Given the description of an element on the screen output the (x, y) to click on. 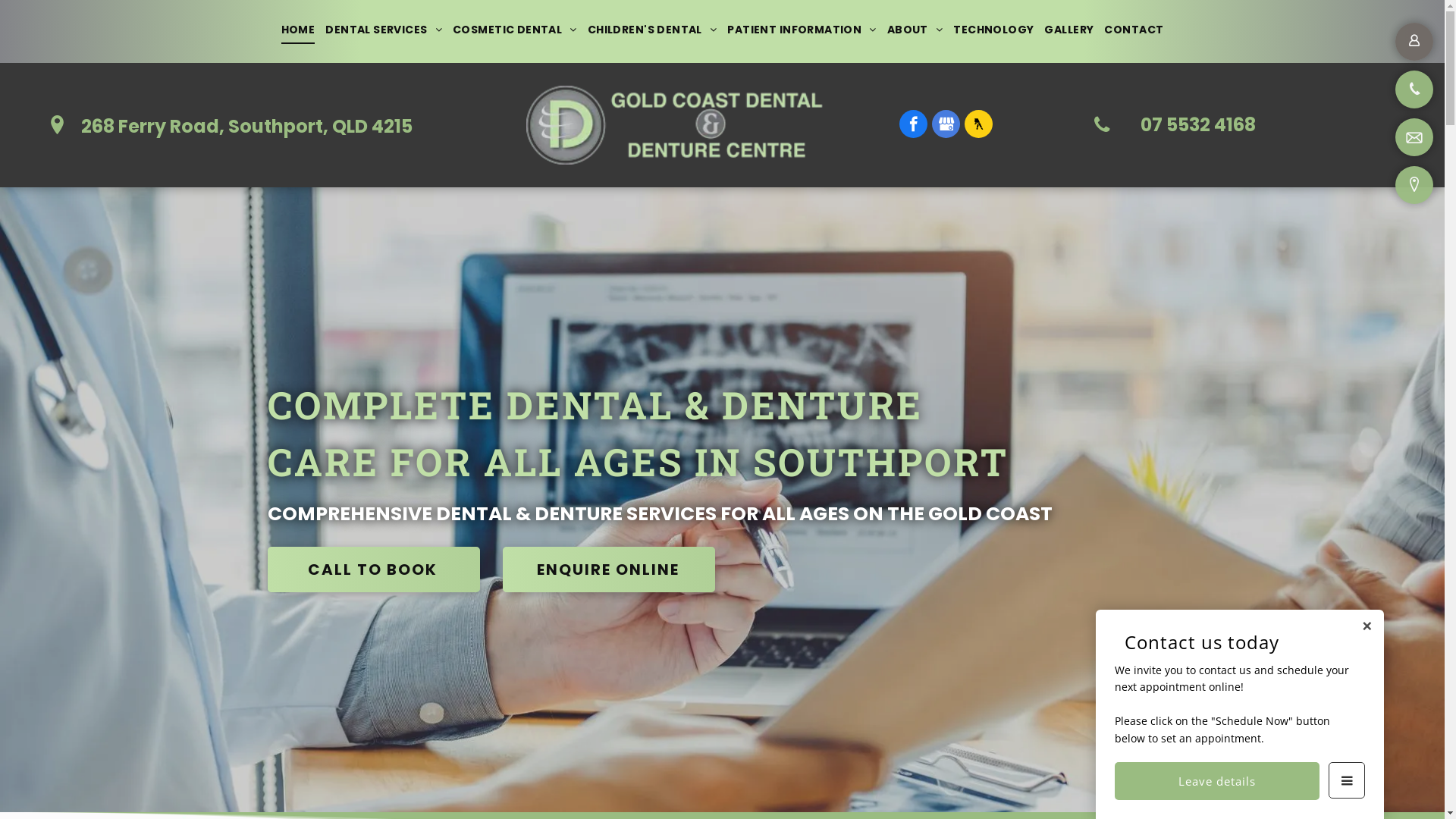
ENQUIRE ONLINE Element type: text (608, 569)
PATIENT INFORMATION Element type: text (801, 29)
07 5532 4168 Element type: text (1182, 124)
DENTAL SERVICES Element type: text (383, 29)
268 Ferry Road, Southport, QLD 4215 Element type: text (230, 124)
TECHNOLOGY Element type: text (992, 29)
GALLERY Element type: text (1068, 29)
COSMETIC DENTAL Element type: text (514, 29)
ABOUT Element type: text (914, 29)
CALL TO BOOK Element type: text (372, 569)
Leave details Element type: text (1216, 781)
CHILDREN'S DENTAL Element type: text (652, 29)
CONTACT Element type: text (1133, 29)
HOME Element type: text (298, 29)
